Given the description of an element on the screen output the (x, y) to click on. 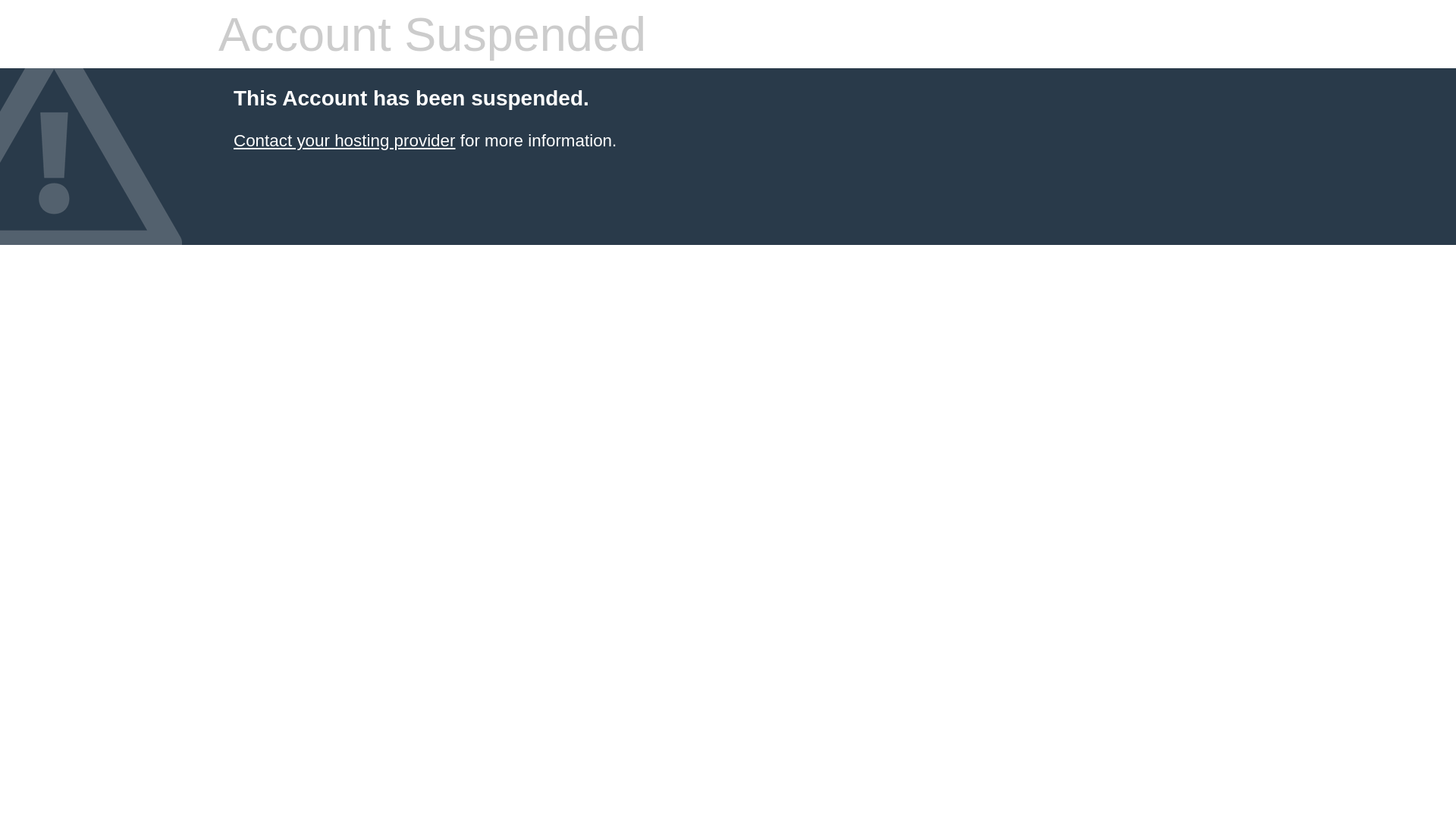
Contact your hosting provider Element type: text (344, 140)
